Given the description of an element on the screen output the (x, y) to click on. 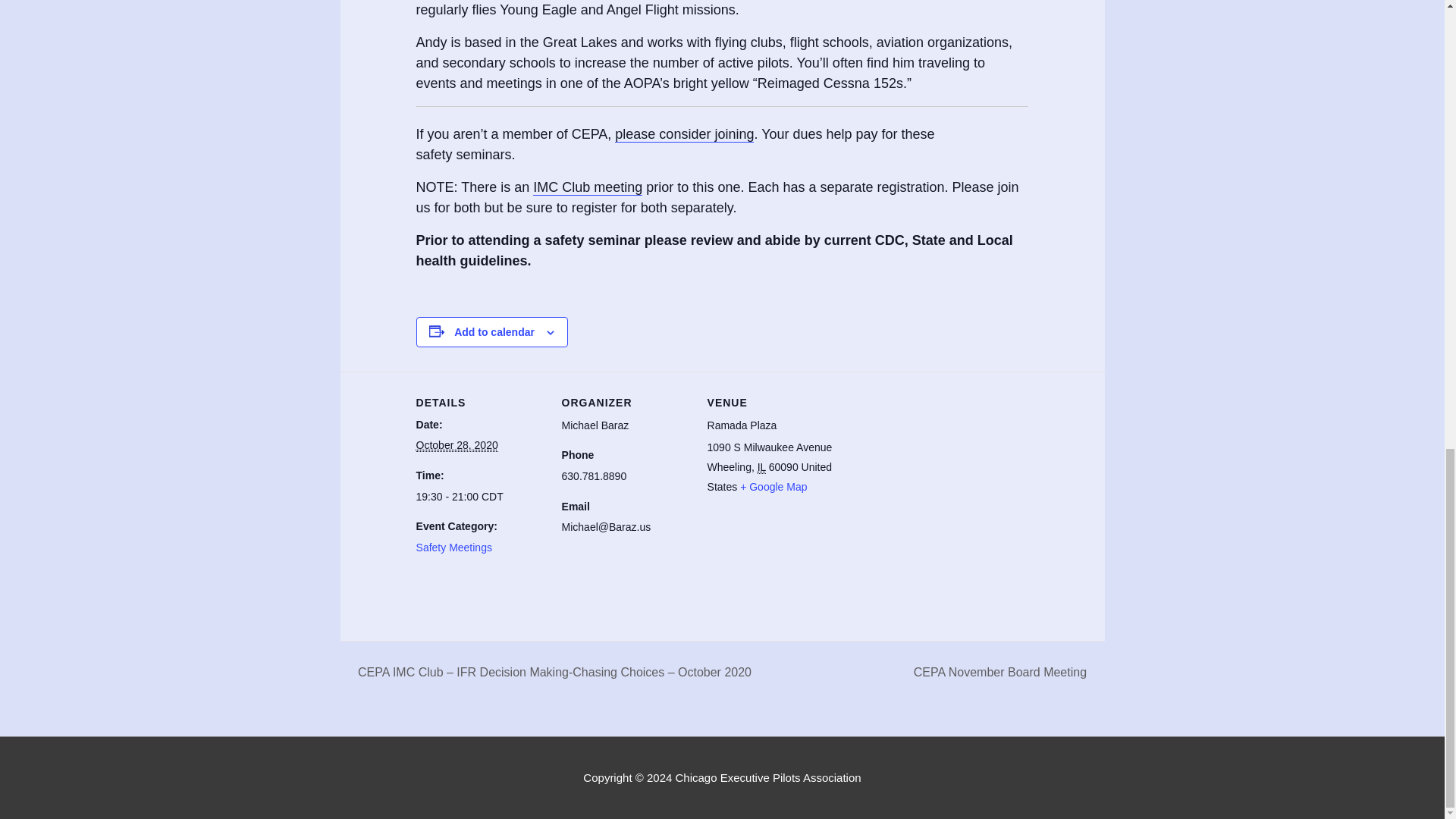
2020-10-28 (479, 496)
2020-10-28 (456, 445)
Google maps iframe displaying the address to Ramada Plaza (933, 475)
IMC Club meeting (587, 187)
please consider joining (684, 134)
Add to calendar (494, 331)
Click to view a Google Map (772, 486)
